Given the description of an element on the screen output the (x, y) to click on. 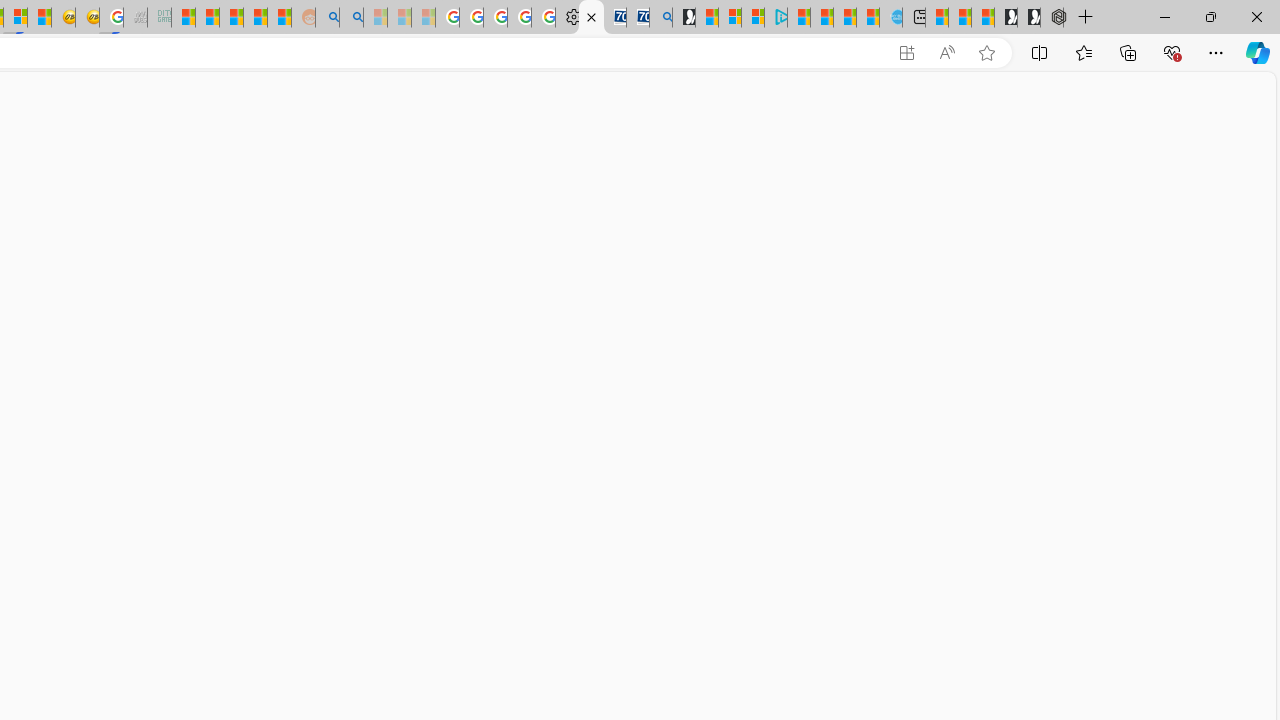
Wallet (590, 17)
Student Loan Update: Forgiveness Program Ends This Month (255, 17)
